Given the description of an element on the screen output the (x, y) to click on. 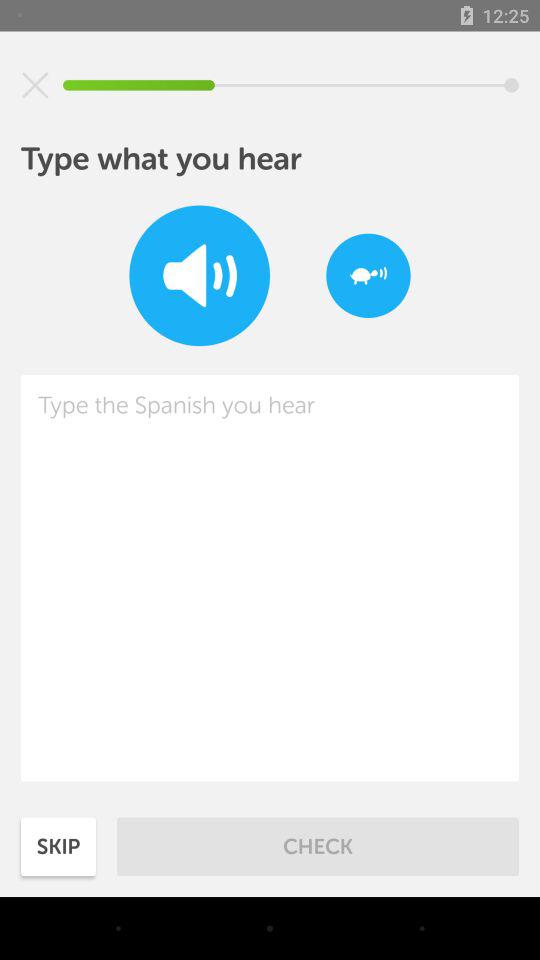
click the item at the top right corner (368, 275)
